Given the description of an element on the screen output the (x, y) to click on. 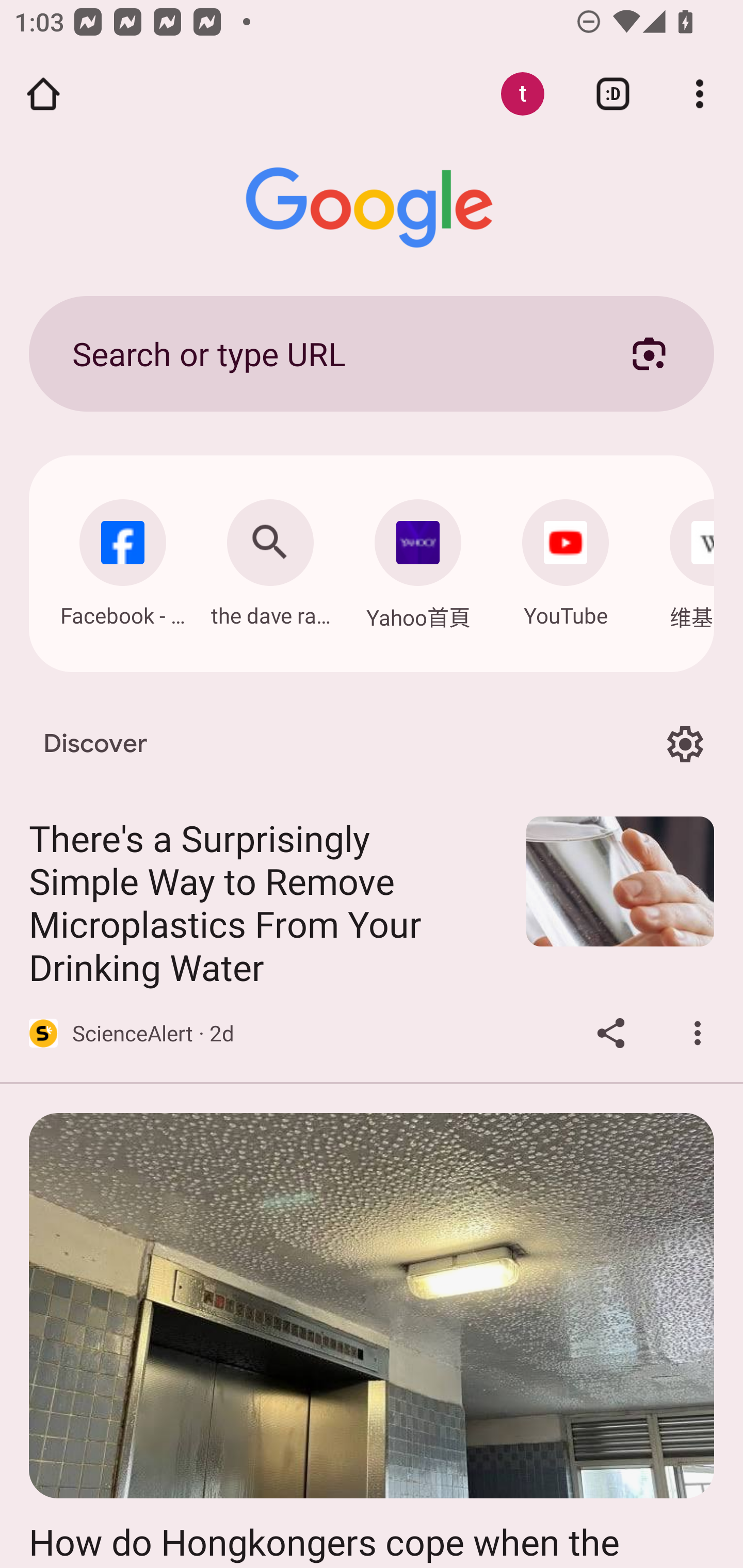
Open the home page (43, 93)
Switch or close tabs (612, 93)
Customize and control Google Chrome (699, 93)
Search or type URL (327, 353)
Search with your camera using Google Lens (648, 353)
Search: the dave ramsey show the dave ramsey show (270, 558)
Navigate: Yahoo首頁: hk.mobi.yahoo.com Yahoo首頁 (417, 558)
Navigate: YouTube: m.youtube.com YouTube (565, 558)
Options for Discover (684, 743)
